Given the description of an element on the screen output the (x, y) to click on. 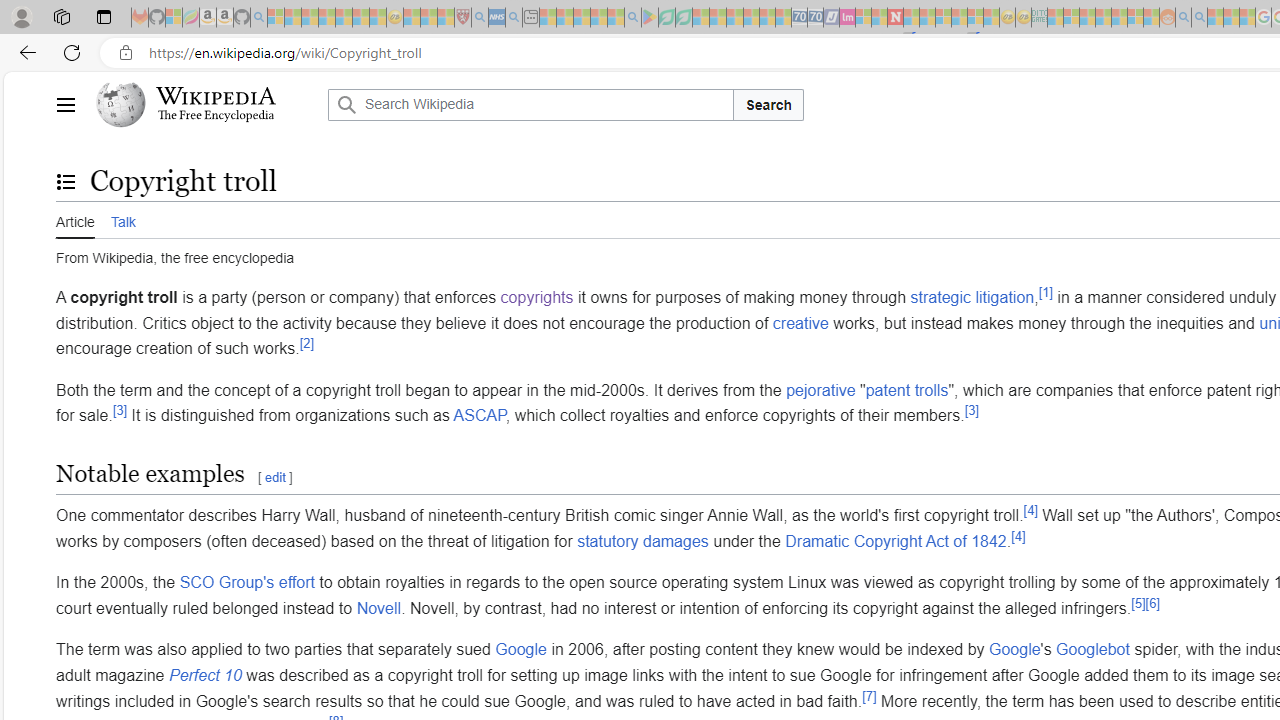
The Free Encyclopedia (216, 116)
google - Search - Sleeping (632, 17)
[7] (868, 696)
statutory damages (643, 541)
Expert Portfolios - Sleeping (1103, 17)
edit (274, 477)
Wikipedia (216, 96)
strategic litigation (972, 297)
